Given the description of an element on the screen output the (x, y) to click on. 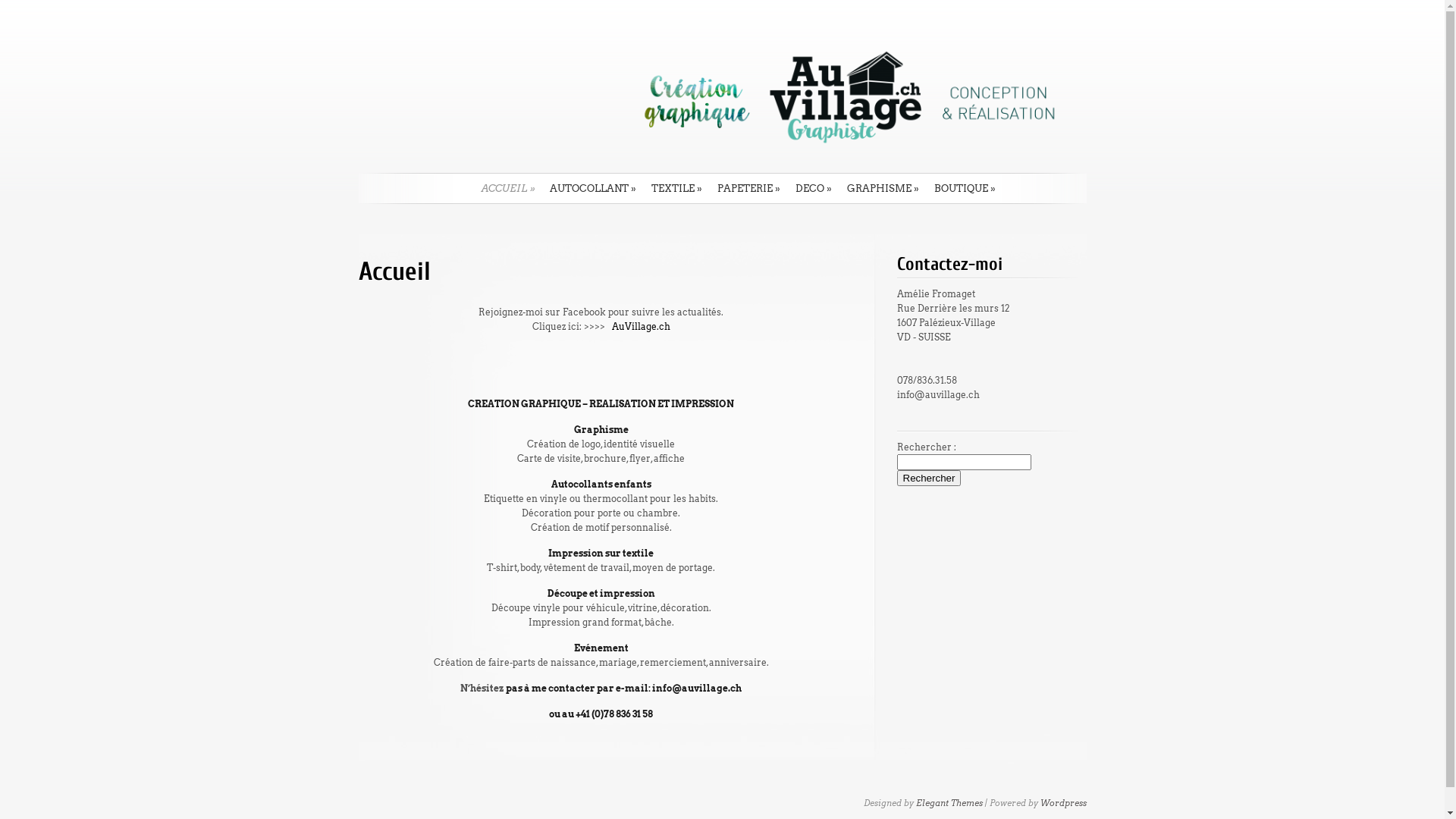
Rechercher Element type: text (928, 478)
Wordpress Element type: text (1063, 802)
Elegant Themes Element type: text (949, 802)
AuVillage.ch Element type: text (640, 326)
